Given the description of an element on the screen output the (x, y) to click on. 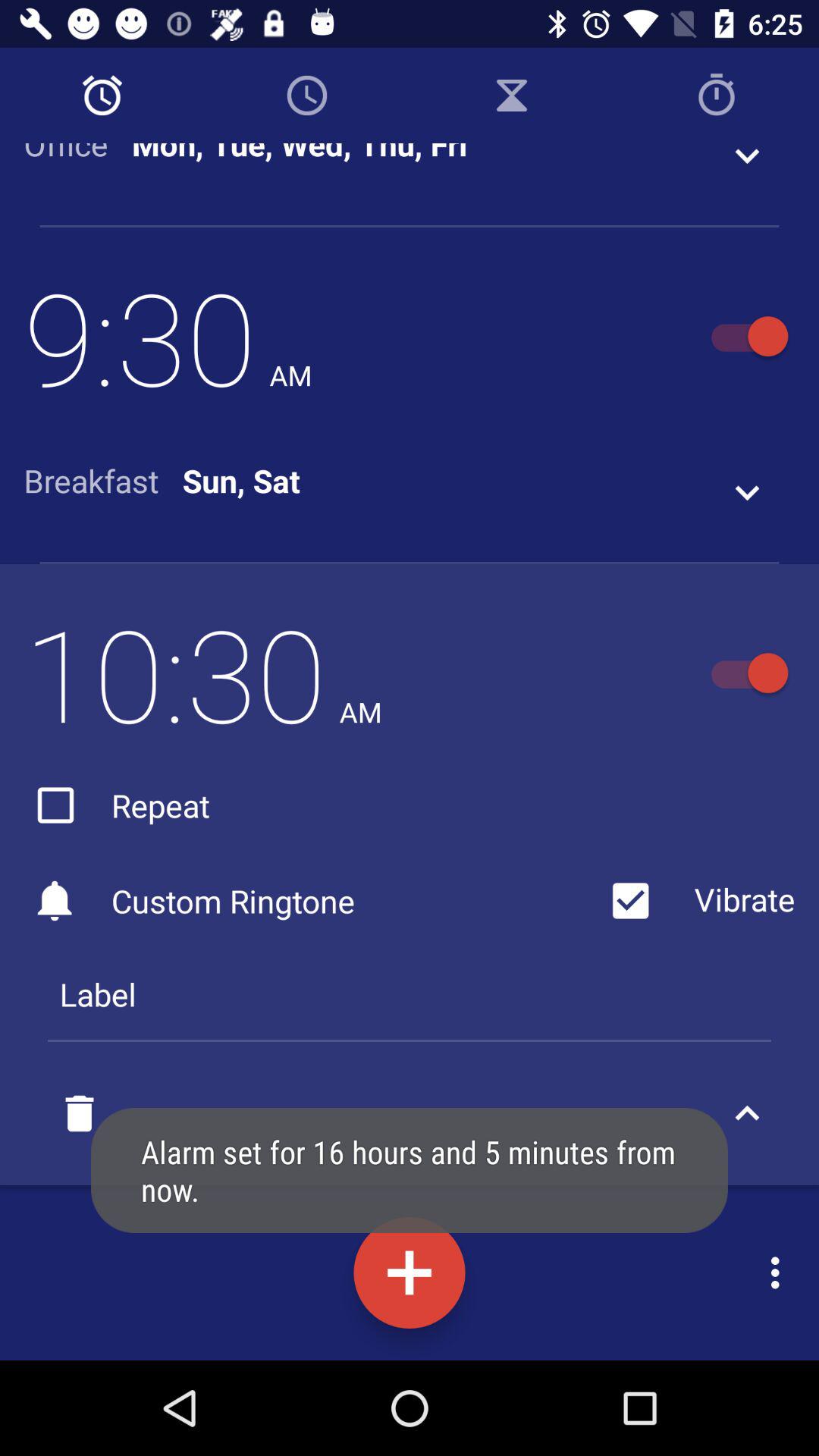
flip to office   item (77, 154)
